Given the description of an element on the screen output the (x, y) to click on. 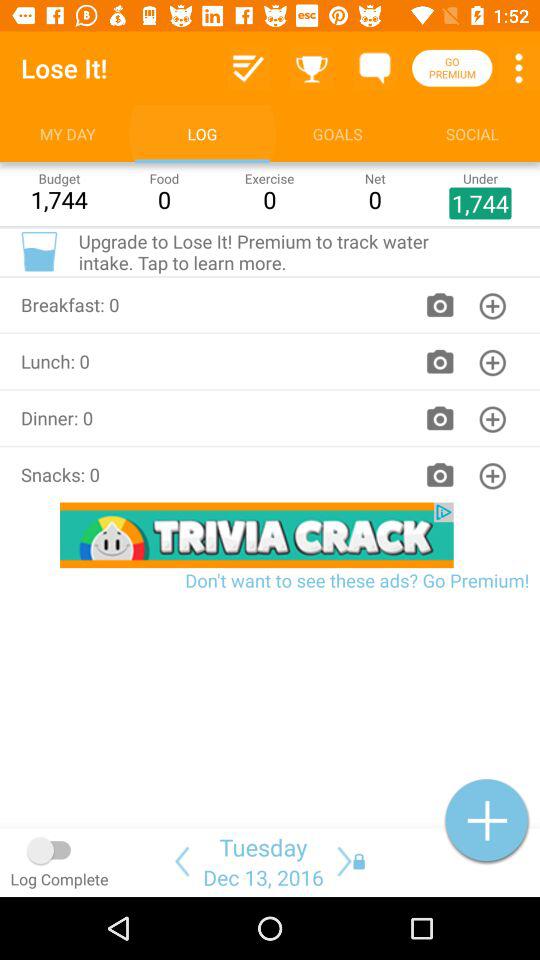
click on  icon which is at bottom right corner of the page (487, 819)
click on  icon in fourth row (492, 475)
click on the button at the top right corner of the page (518, 68)
